Given the description of an element on the screen output the (x, y) to click on. 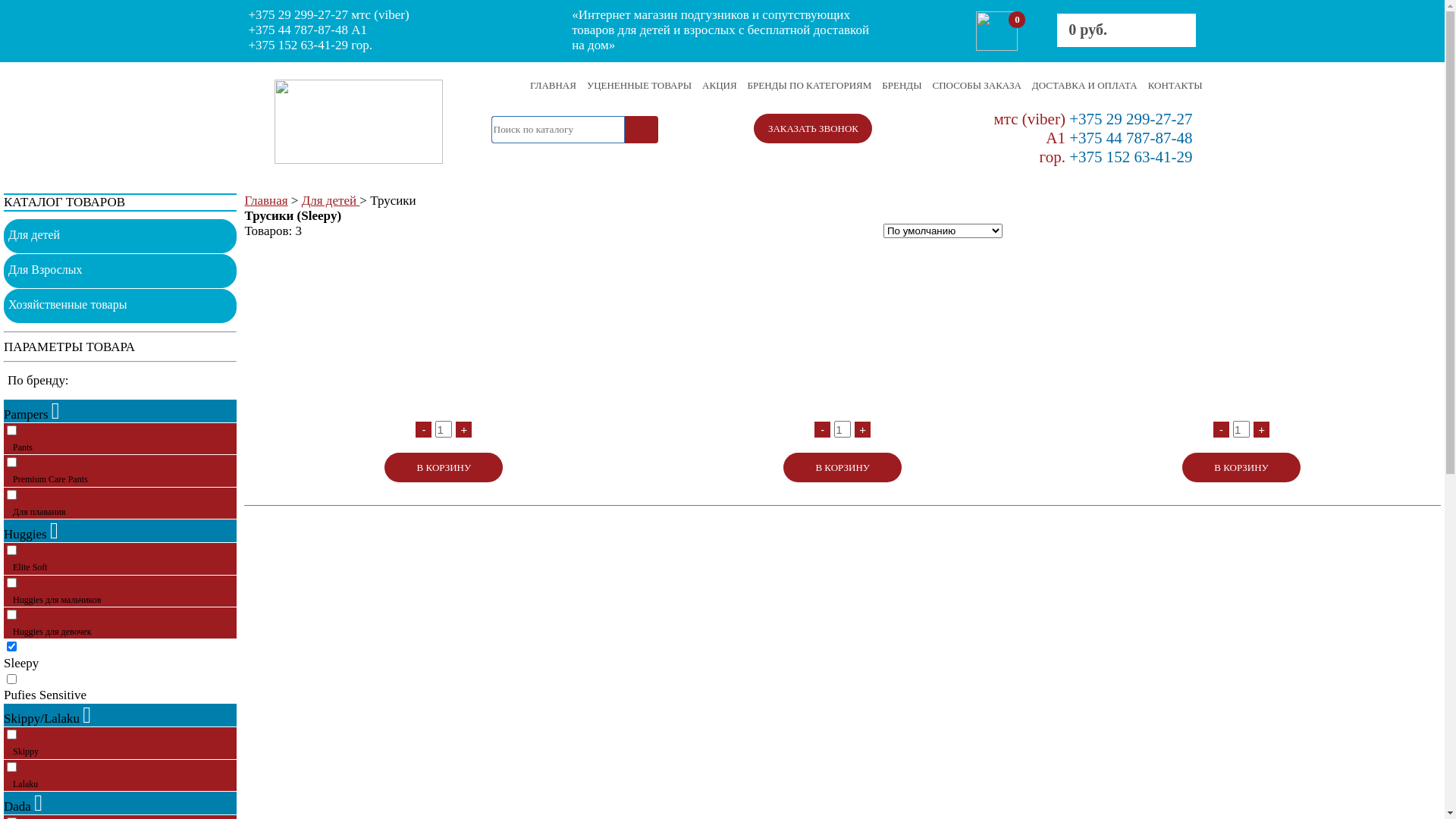
- Element type: text (423, 429)
+ Element type: text (463, 429)
- Element type: text (1221, 429)
A1 +375 44 787-87-48 Element type: text (1118, 137)
+ Element type: text (1261, 429)
- Element type: text (822, 429)
+375 44 787-87-48 A1 Element type: text (307, 29)
+ Element type: text (862, 429)
